Given the description of an element on the screen output the (x, y) to click on. 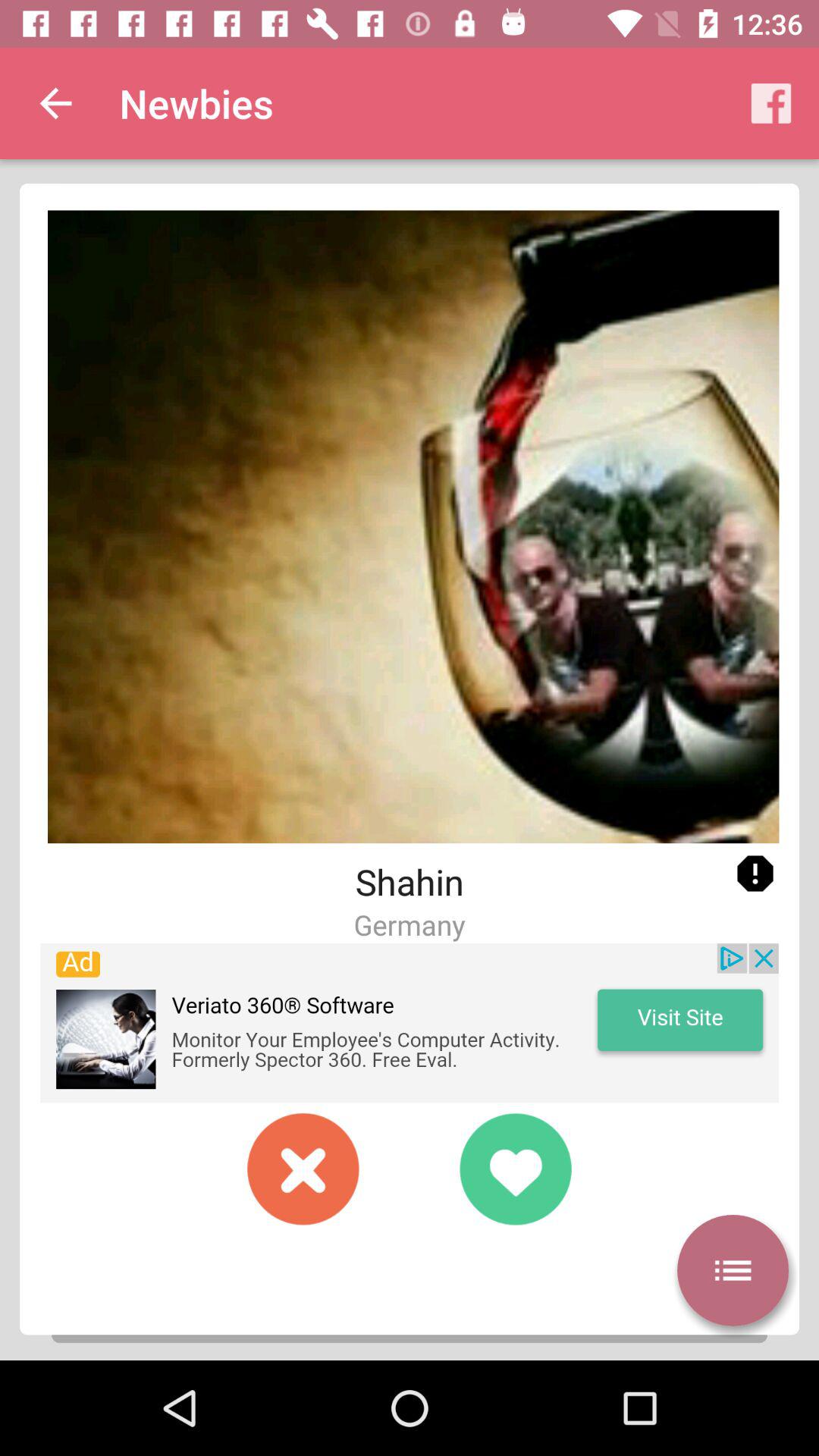
open an advertised app (409, 1022)
